Given the description of an element on the screen output the (x, y) to click on. 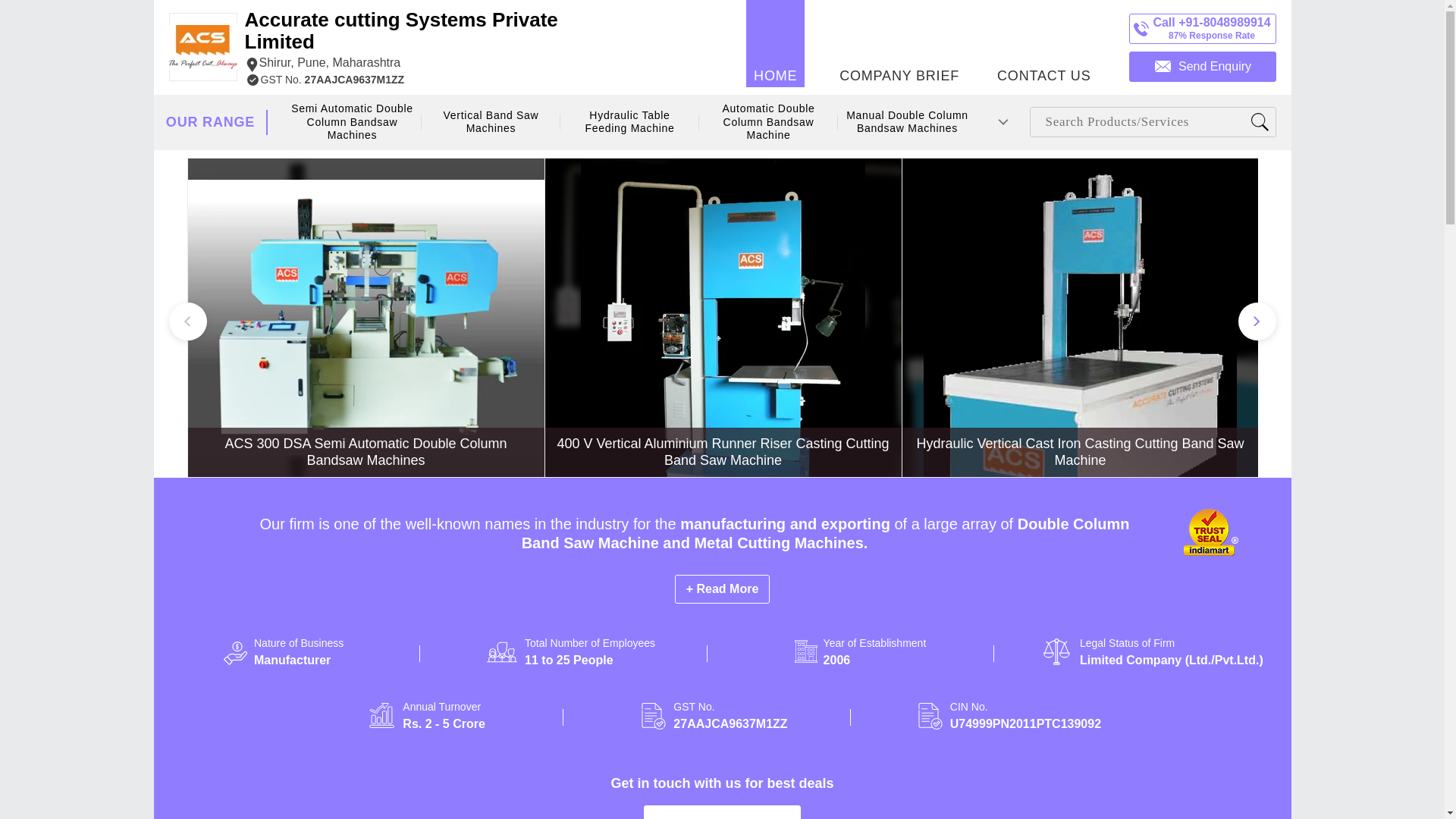
ACS 300 DSA Semi Automatic Double Column Bandsaw Machines (365, 450)
Manual Double Column Bandsaw Machines (907, 122)
COMPANY BRIEF (898, 43)
CONTACT US (1043, 43)
OUR RANGE (209, 122)
Automatic Double Column Bandsaw Machine (767, 122)
Vertical Band Saw Machines (490, 122)
Hydraulic Table Feeding Machine (629, 122)
